Given the description of an element on the screen output the (x, y) to click on. 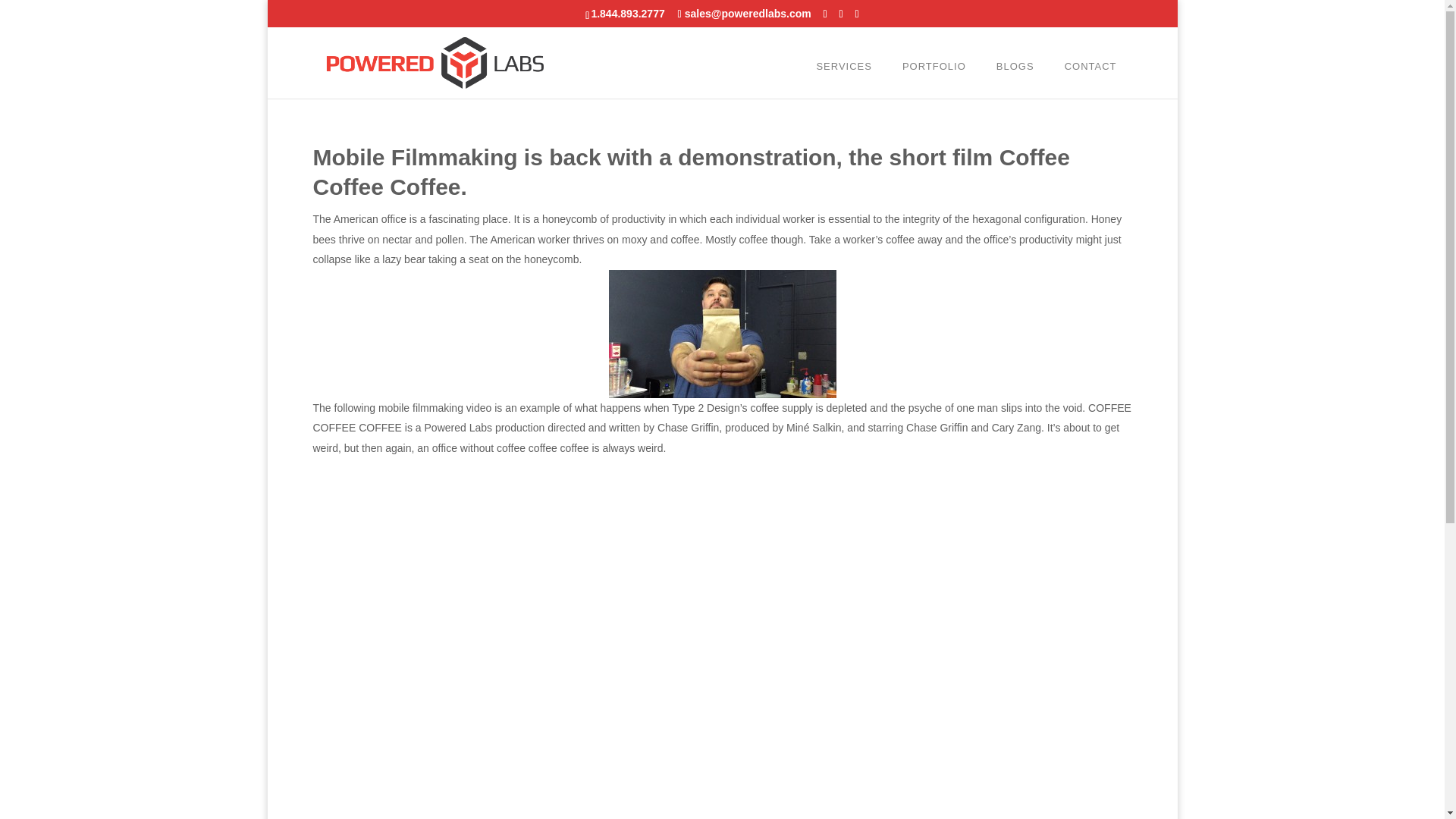
BLOGS (1015, 62)
SERVICES (843, 62)
CONTACT (1090, 62)
PORTFOLIO (933, 62)
